Given the description of an element on the screen output the (x, y) to click on. 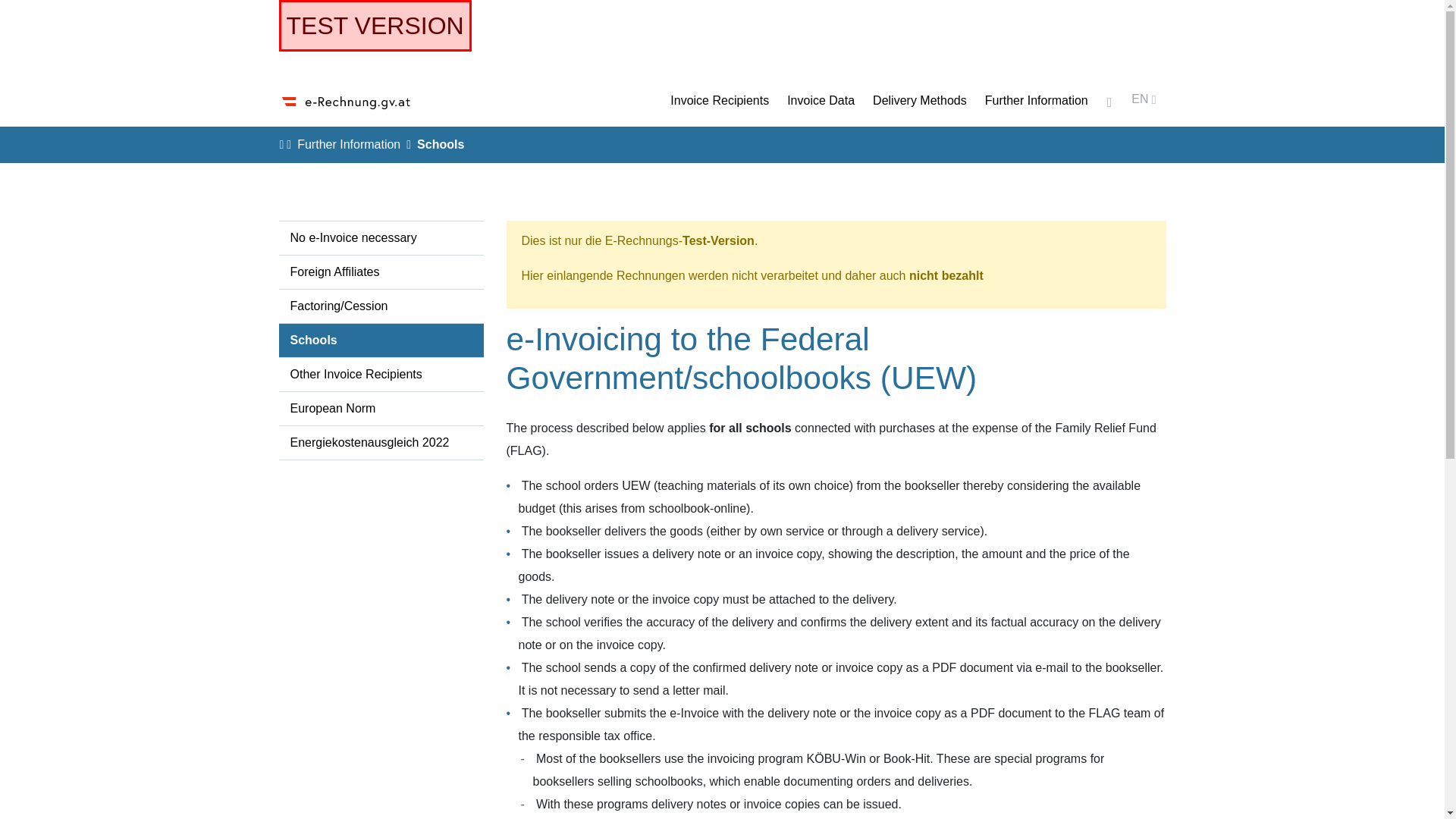
Schools (381, 340)
European Norm (381, 408)
Invoice Data (820, 100)
Other Invoice Recipients (381, 374)
Invoice Recipients (719, 100)
Show search bar (1109, 101)
Foreign Affiliates (381, 272)
Energiekostenausgleich 2022 (381, 442)
Further Information (1036, 100)
Further Information (348, 144)
EN (1143, 101)
Delivery Methods (919, 100)
No e-Invoice necessary (381, 238)
